Given the description of an element on the screen output the (x, y) to click on. 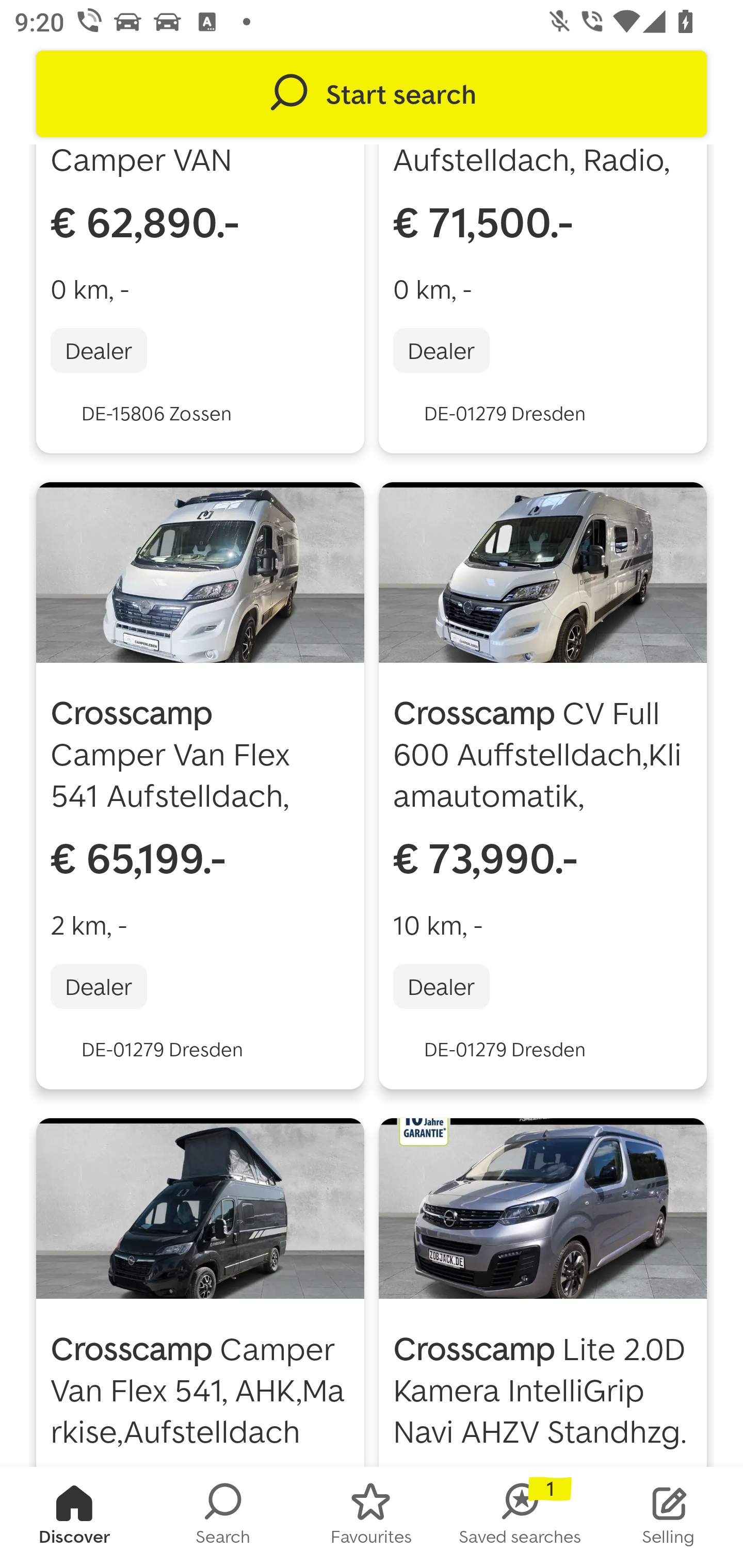
Start search (371, 93)
HOMESCREEN Discover (74, 1517)
SEARCH Search (222, 1517)
FAVORITES Favourites (371, 1517)
SAVED_SEARCHES Saved searches 1 (519, 1517)
STOCK_LIST Selling (668, 1517)
